Given the description of an element on the screen output the (x, y) to click on. 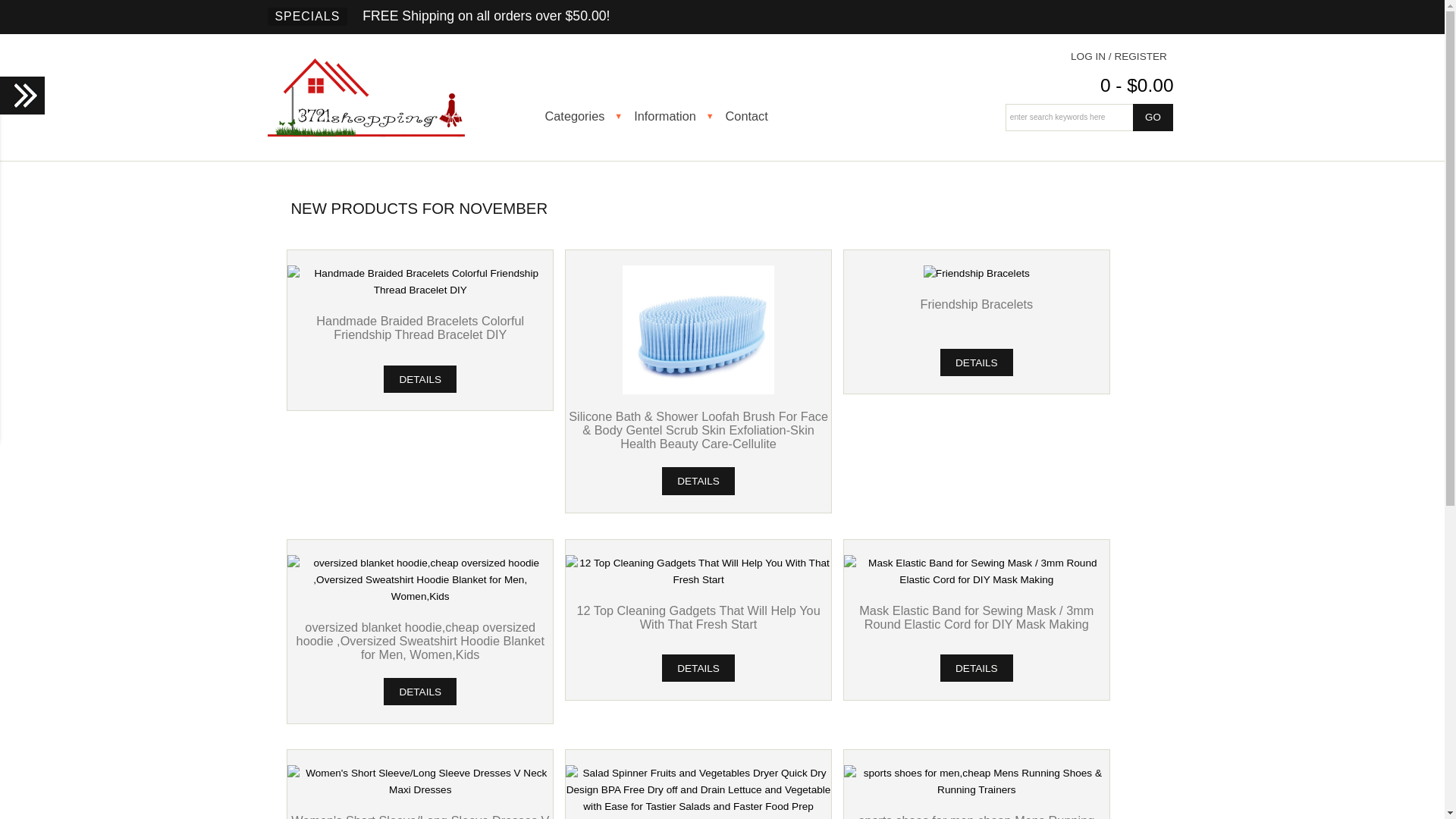
0 - $0.00 Element type: text (1136, 85)
 DETAILS  Element type: text (976, 668)
 DETAILS  Element type: text (976, 362)
Contact Element type: text (757, 115)
LOG IN / REGISTER Element type: text (1118, 56)
Friendship Bracelets Element type: text (975, 303)
 DETAILS  Element type: text (698, 668)
 DETAILS  Element type: text (419, 379)
Information Element type: text (675, 115)
SPECIALS Element type: text (306, 15)
go Element type: text (1152, 117)
 DETAILS  Element type: text (698, 481)
Categories Element type: text (584, 115)
 Friendship Bracelets  Element type: hover (976, 273)
 DETAILS  Element type: text (419, 691)
